Given the description of an element on the screen output the (x, y) to click on. 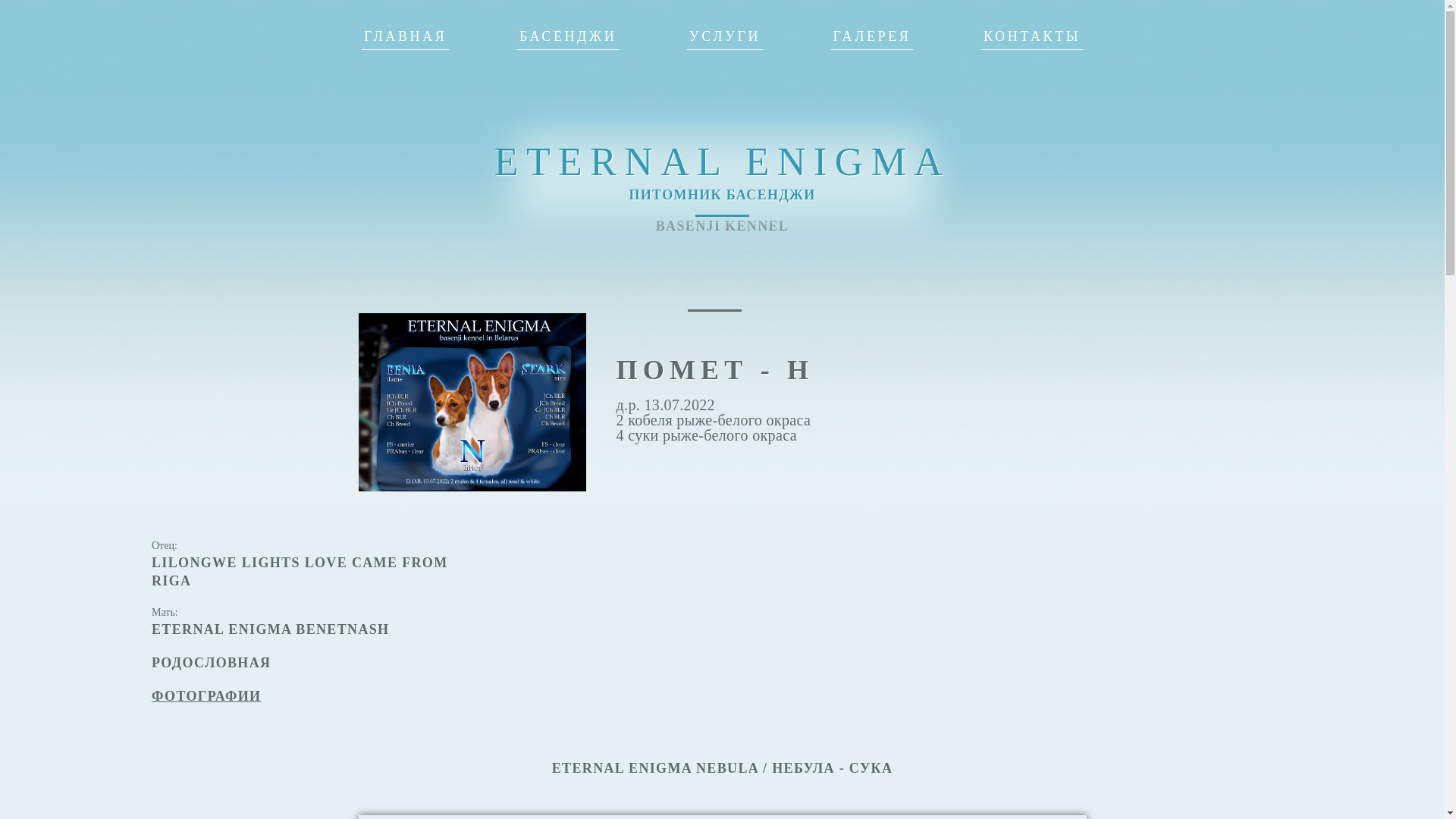
ETERNAL ENIGMA BENETNASH Element type: text (270, 629)
LILONGWE LIGHTS LOVE CAME FROM RIGA Element type: text (299, 571)
